Given the description of an element on the screen output the (x, y) to click on. 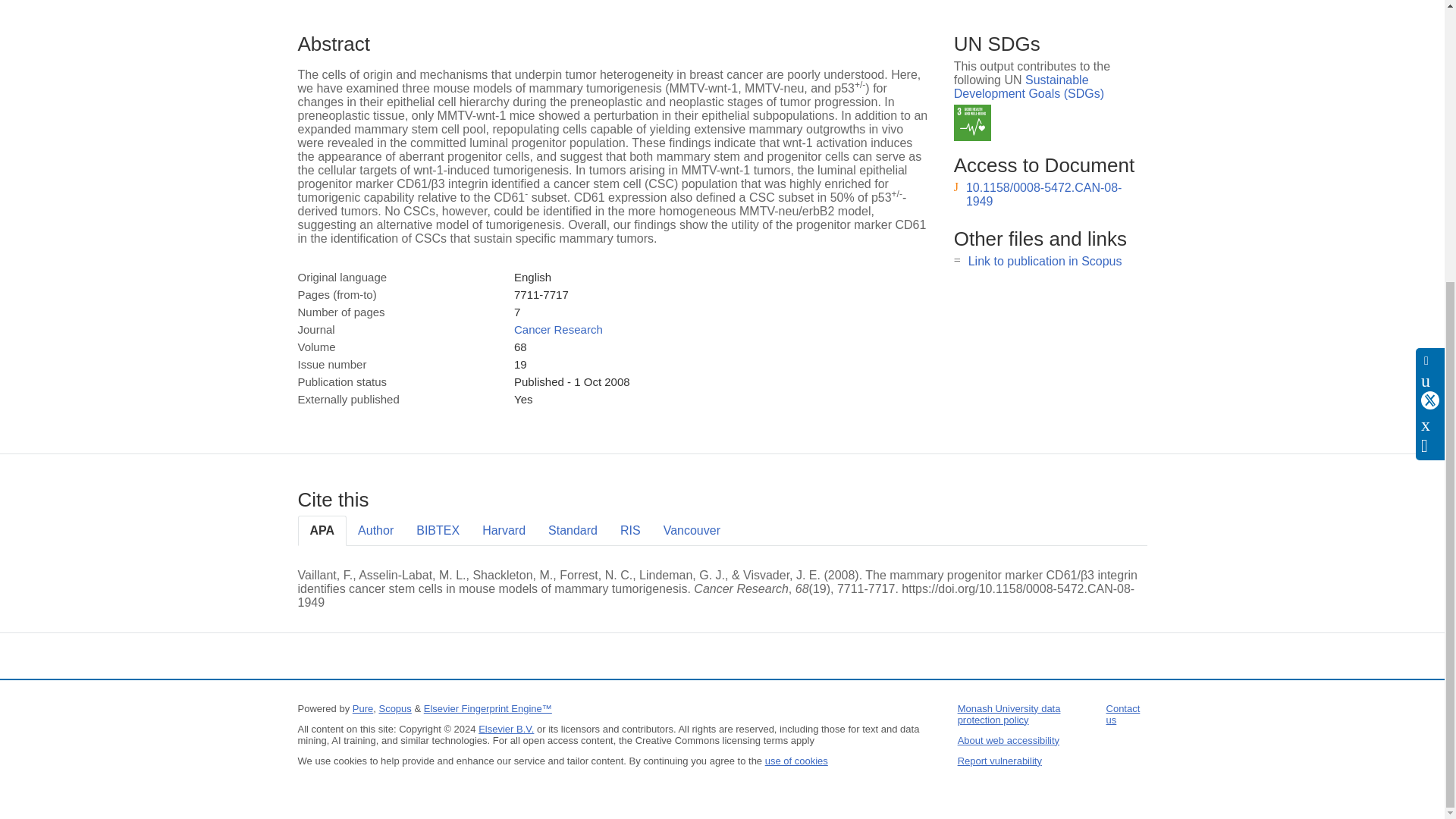
Cancer Research (557, 328)
Elsevier B.V. (506, 728)
Report vulnerability (1000, 760)
Pure (362, 708)
Contact us (1123, 713)
Monash University data protection policy (1009, 713)
About web accessibility (1008, 740)
SDG 3 - Good Health and Well-being (972, 122)
Link to publication in Scopus (1045, 260)
use of cookies (796, 760)
